Given the description of an element on the screen output the (x, y) to click on. 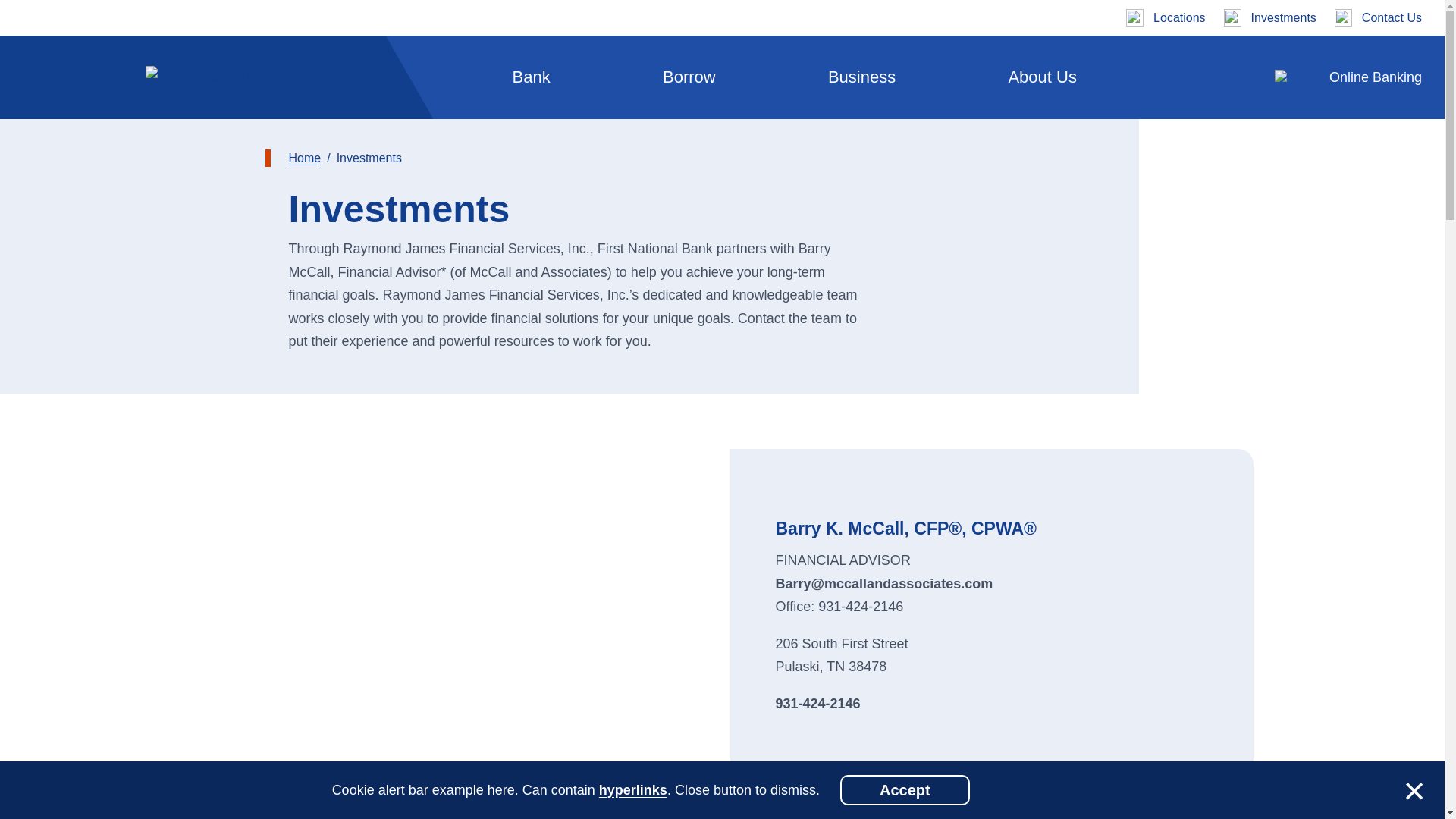
Borrow (689, 76)
Bank (531, 76)
Meet the Team (593, 343)
Personal Loans (323, 343)
Online Services (599, 307)
Learn More (995, 497)
Contact Us (1378, 17)
Community (304, 279)
Home Equity (310, 289)
Investments (1270, 17)
Search (1280, 77)
Mortgage Options (334, 395)
Credit Cards (309, 360)
Business (861, 76)
Credit Cards (309, 413)
